Given the description of an element on the screen output the (x, y) to click on. 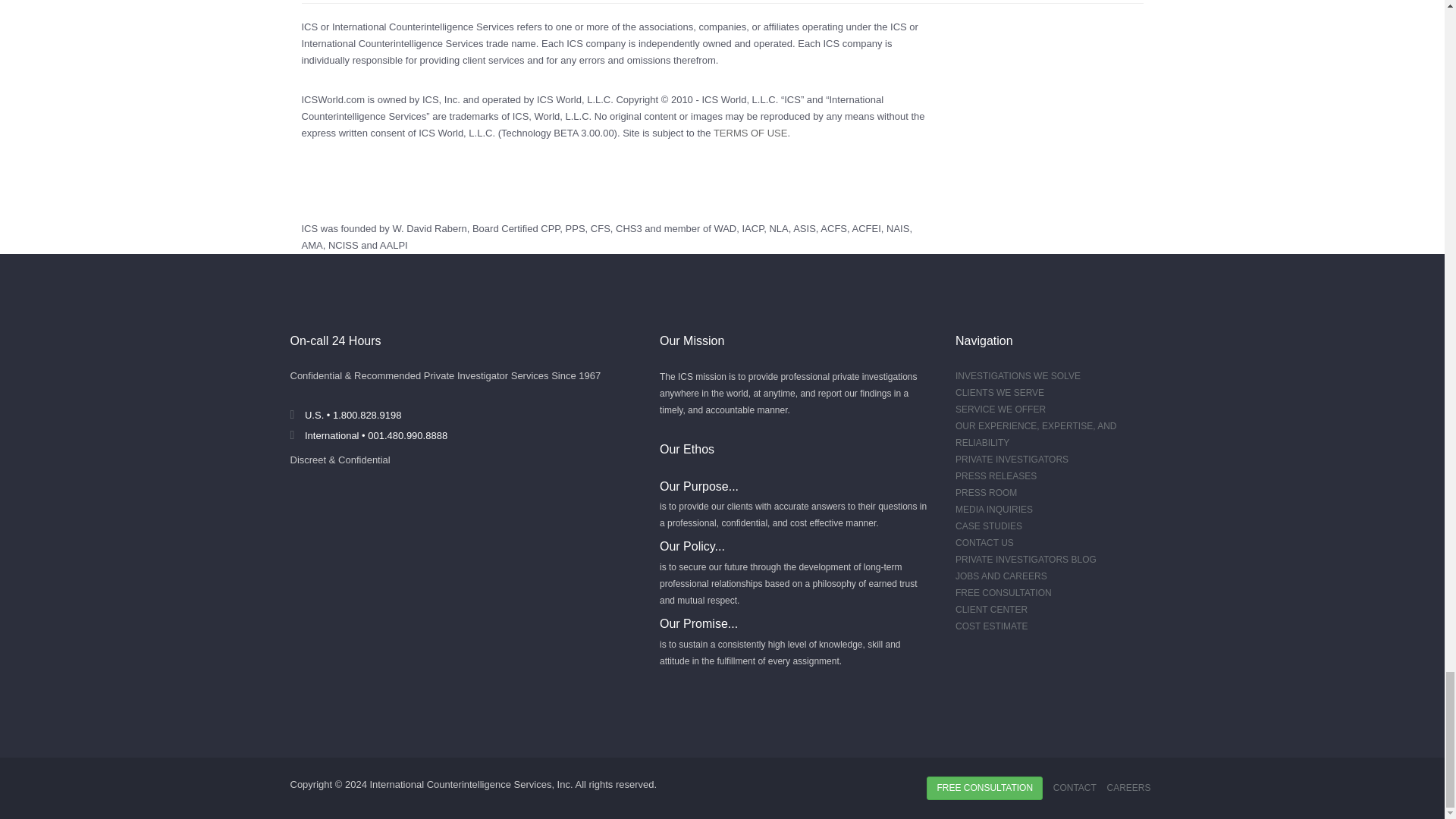
American College of Forensic Examiners Institute (865, 228)
International Association of Cheifs of Police (751, 228)
Certified Homeland Security Specialist Level Three (628, 228)
National Council of Investigation and Security Services (343, 244)
Nine Lives Association (777, 228)
Certified Fraud Specialist (600, 228)
Personal Protection Specialist (575, 228)
American Society for Industrial Security (804, 228)
World Association of Detectives (724, 228)
Certified Protection Professional (549, 228)
Arizona Association of Licensed Private Investigators (393, 244)
National Association of Investigative Specialists (897, 228)
American Management Association (312, 244)
Association of Certified Fraud Specialists (834, 228)
